Given the description of an element on the screen output the (x, y) to click on. 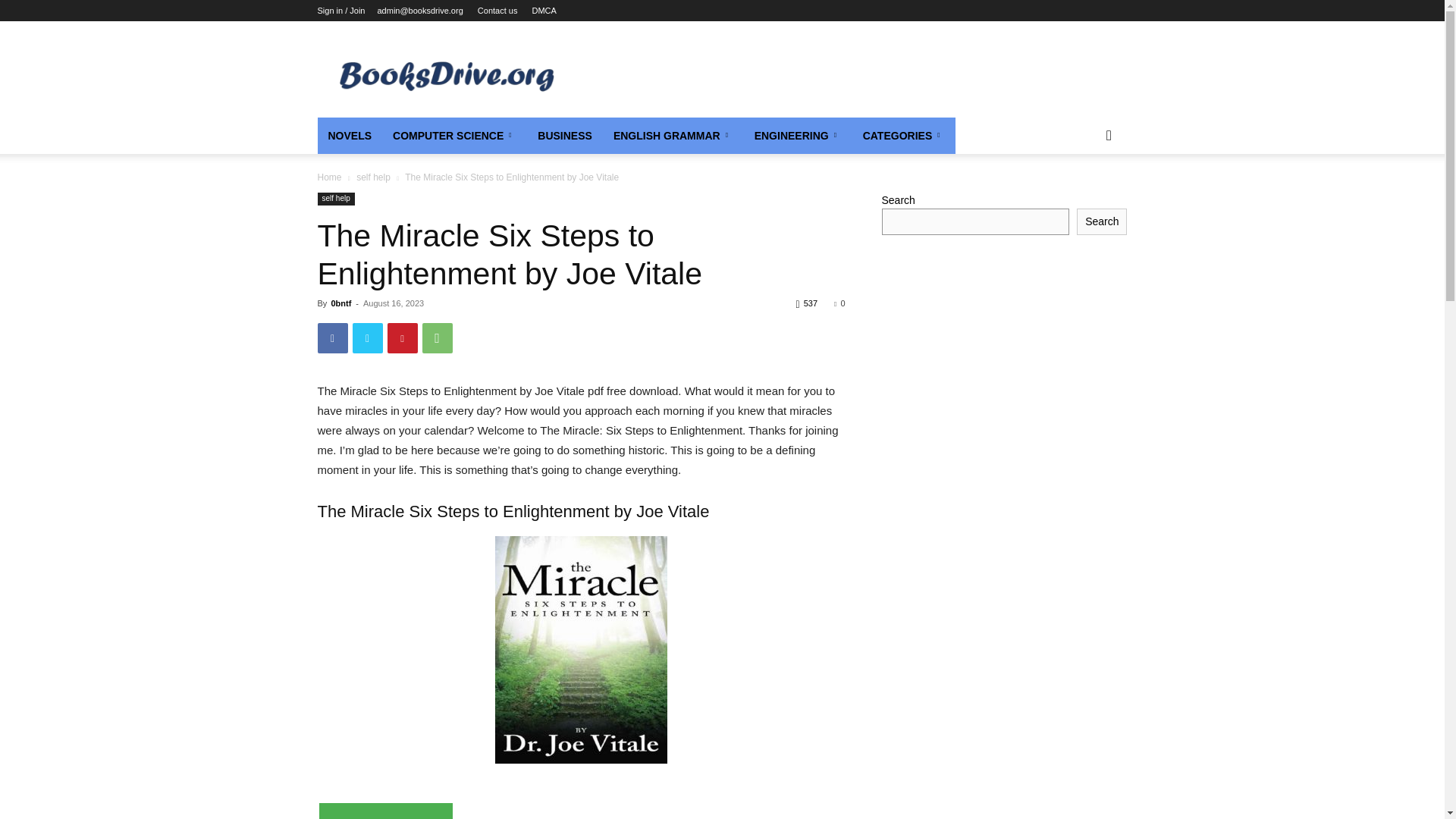
NOVELS (349, 135)
DMCA (543, 10)
WhatsApp (436, 337)
ENGINEERING (797, 135)
Facebook (332, 337)
Pinterest (401, 337)
ENGLISH GRAMMAR (673, 135)
Contact us (497, 10)
BUSINESS (564, 135)
Twitter (366, 337)
COMPUTER SCIENCE (454, 135)
View all posts in self help (373, 176)
CATEGORIES (903, 135)
